Given the description of an element on the screen output the (x, y) to click on. 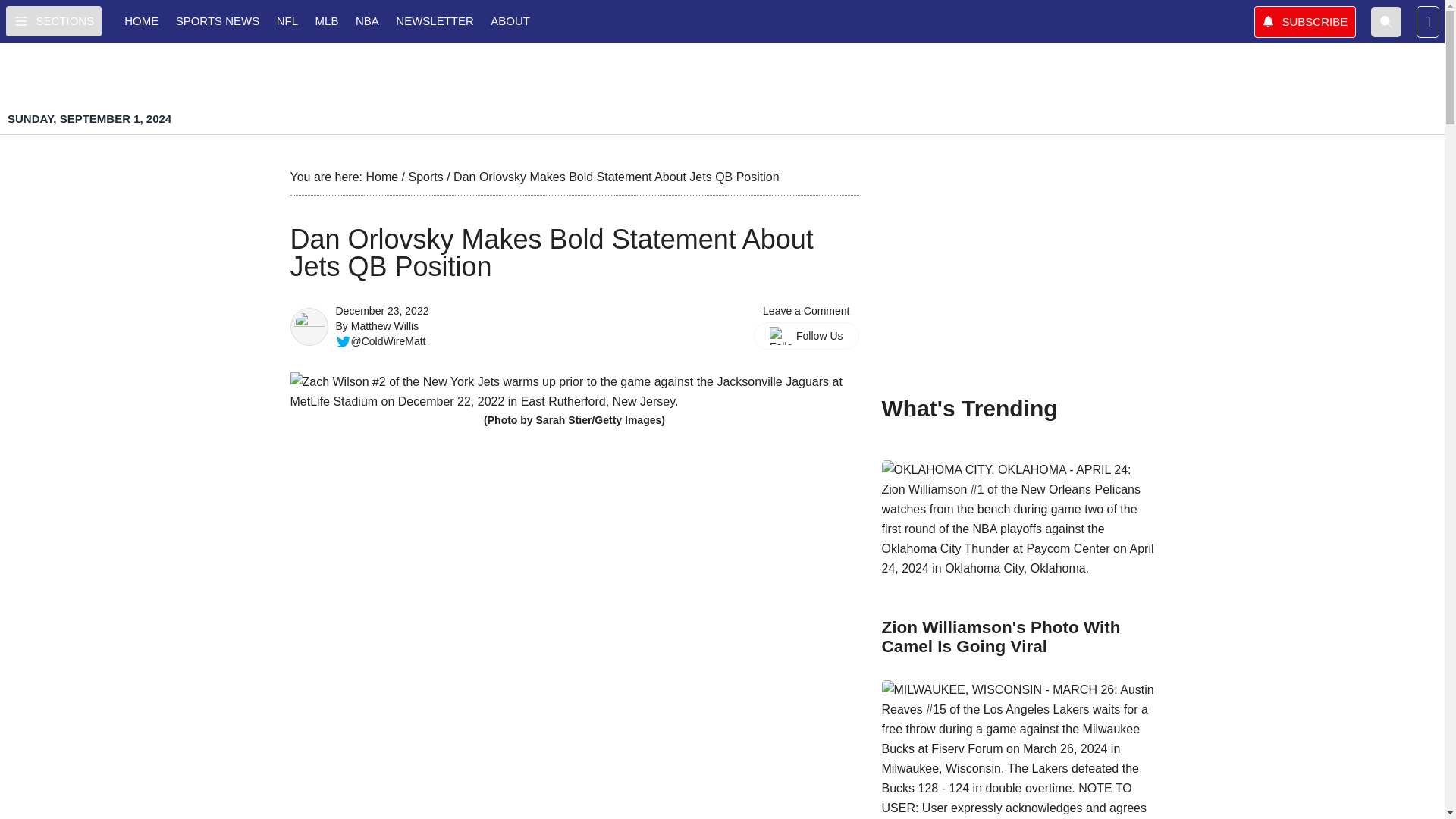
Open Menu (53, 20)
Search (1385, 20)
